Given the description of an element on the screen output the (x, y) to click on. 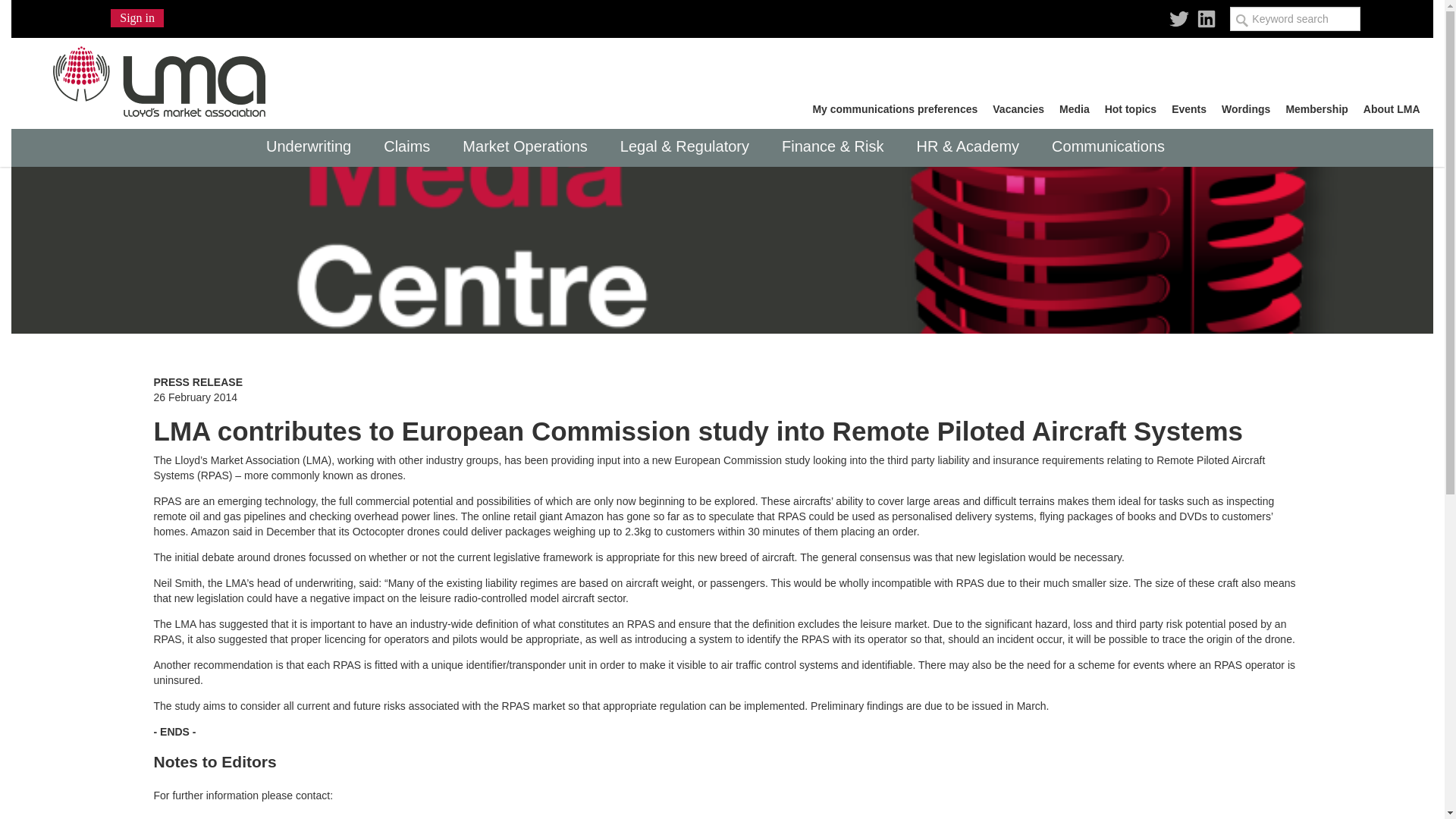
Events (1188, 109)
About LMA (1391, 109)
Home (162, 77)
Visit our Twitter page (1179, 13)
iMIS (162, 77)
Sign in (136, 18)
Hot topics (1130, 109)
Media (1074, 109)
My communications preferences (895, 109)
Keyword search (1294, 18)
Claims (410, 146)
Market Operations (529, 146)
Membership (1316, 109)
Underwriting (312, 146)
Visit our LinkedIn page (1205, 13)
